Given the description of an element on the screen output the (x, y) to click on. 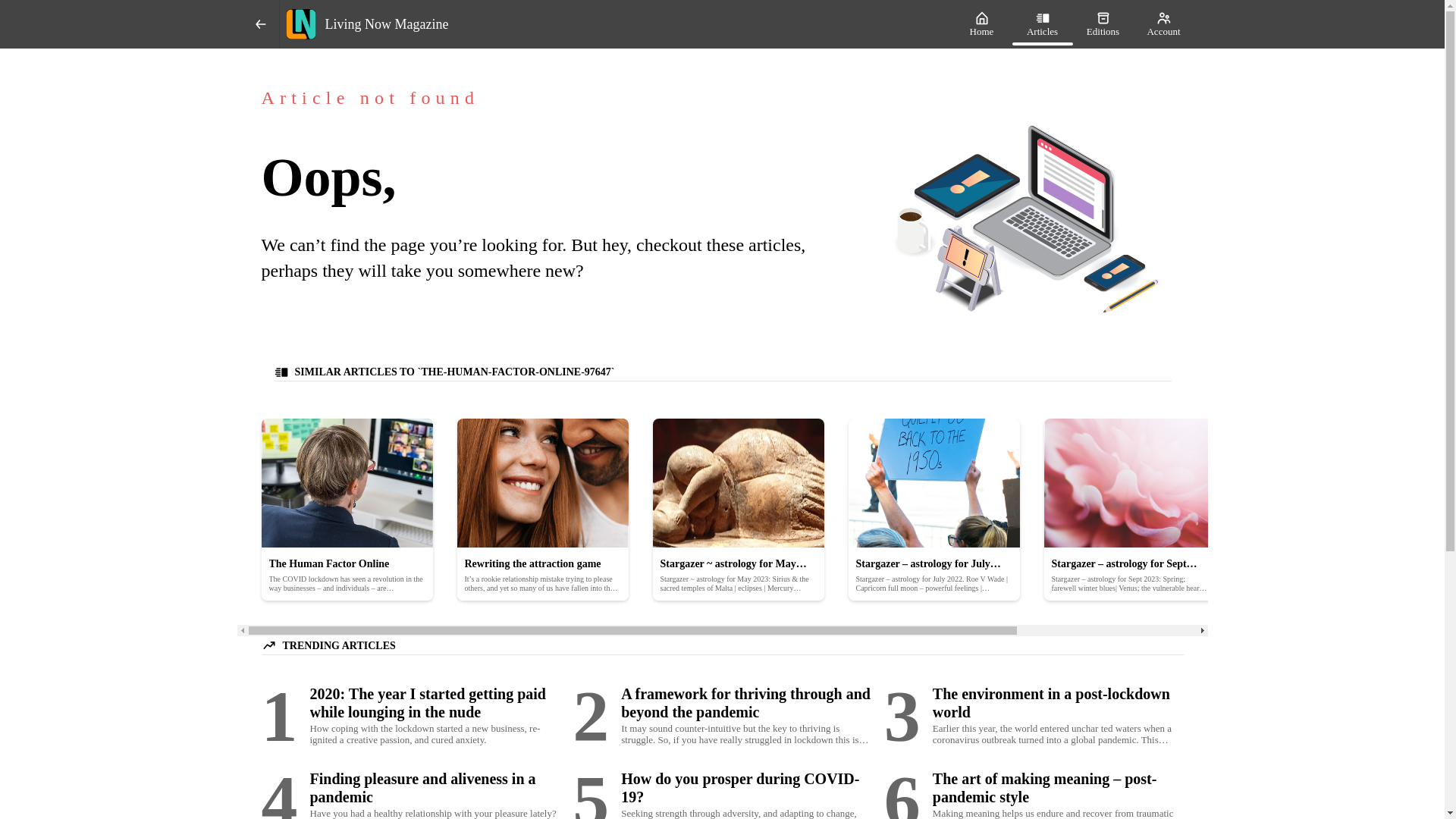
Living Now Magazine Element type: text (614, 24)
